Given the description of an element on the screen output the (x, y) to click on. 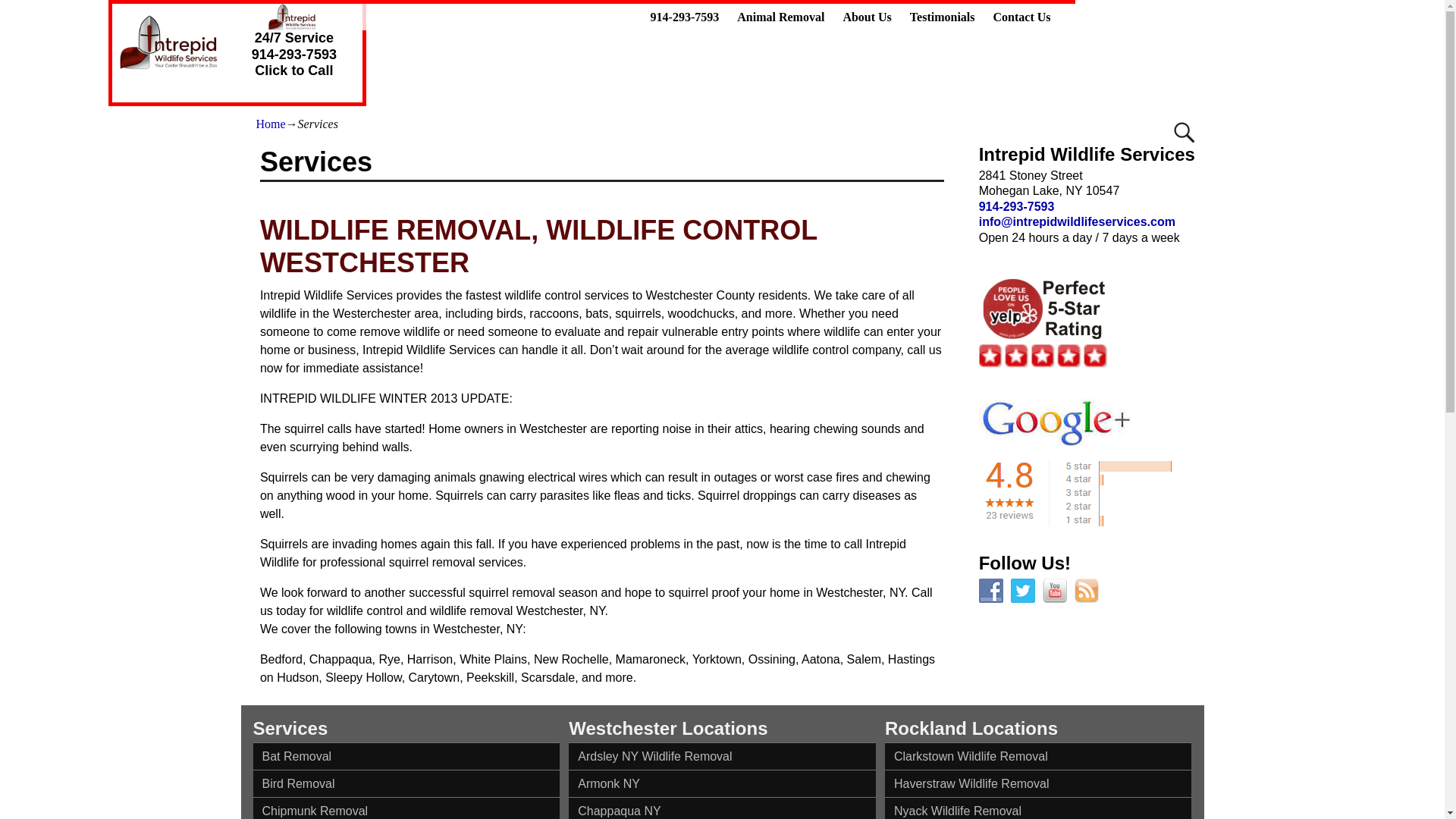
Follow Us on YouTube (1054, 590)
Follow Us on RSS (1086, 590)
Follow Us on Facebook (990, 590)
Animal Removal (780, 17)
Testimonials (942, 17)
Contact Us (1021, 17)
914-293-7593 (685, 17)
About Us (865, 17)
Follow Us on Twitter (1022, 590)
